Given the description of an element on the screen output the (x, y) to click on. 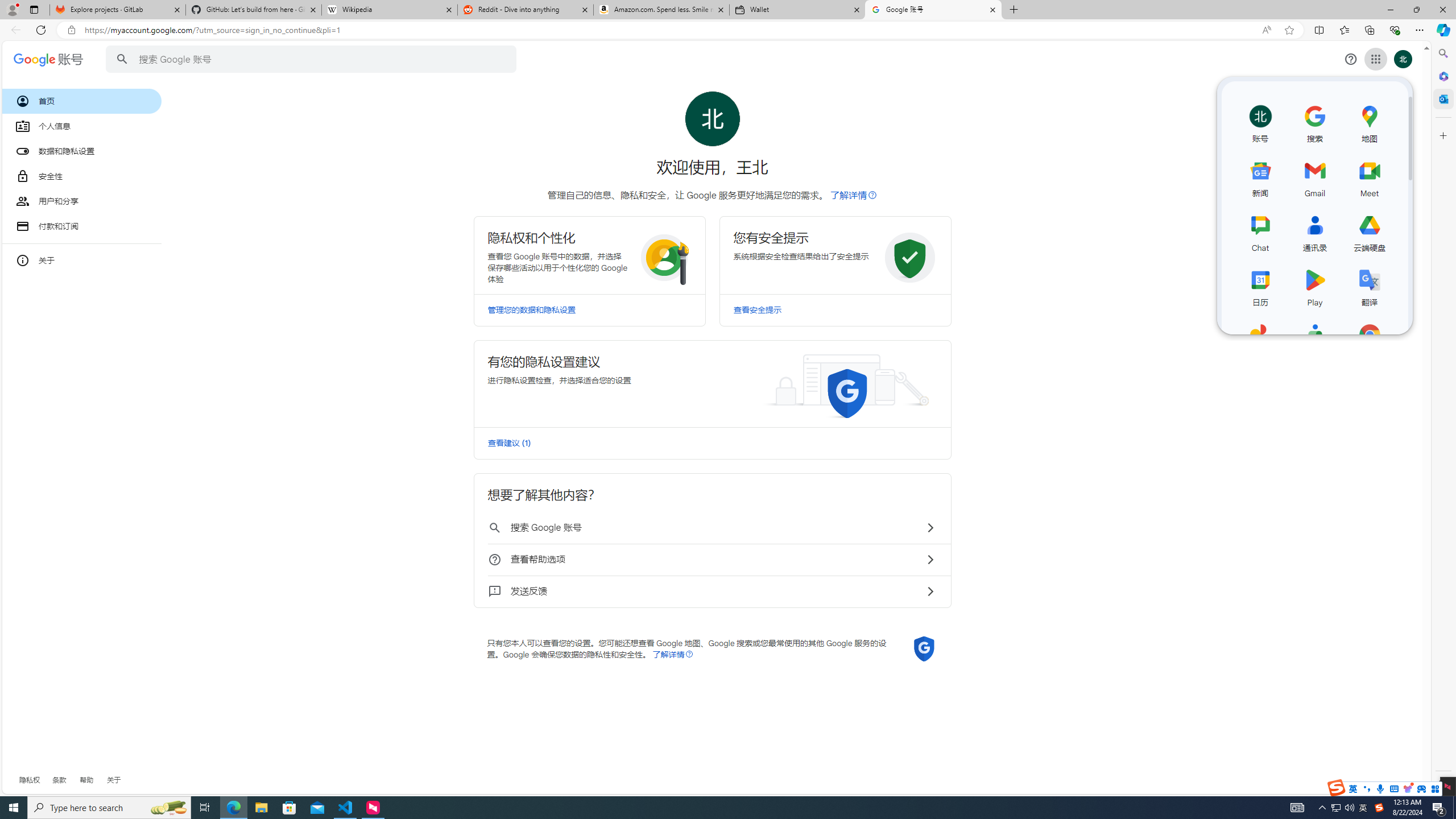
Class: RlFDUe N5YmOc kJXJmd bvW4md I6g62c (711, 383)
Gmail (1314, 176)
Class: gb_E (1375, 59)
